Given the description of an element on the screen output the (x, y) to click on. 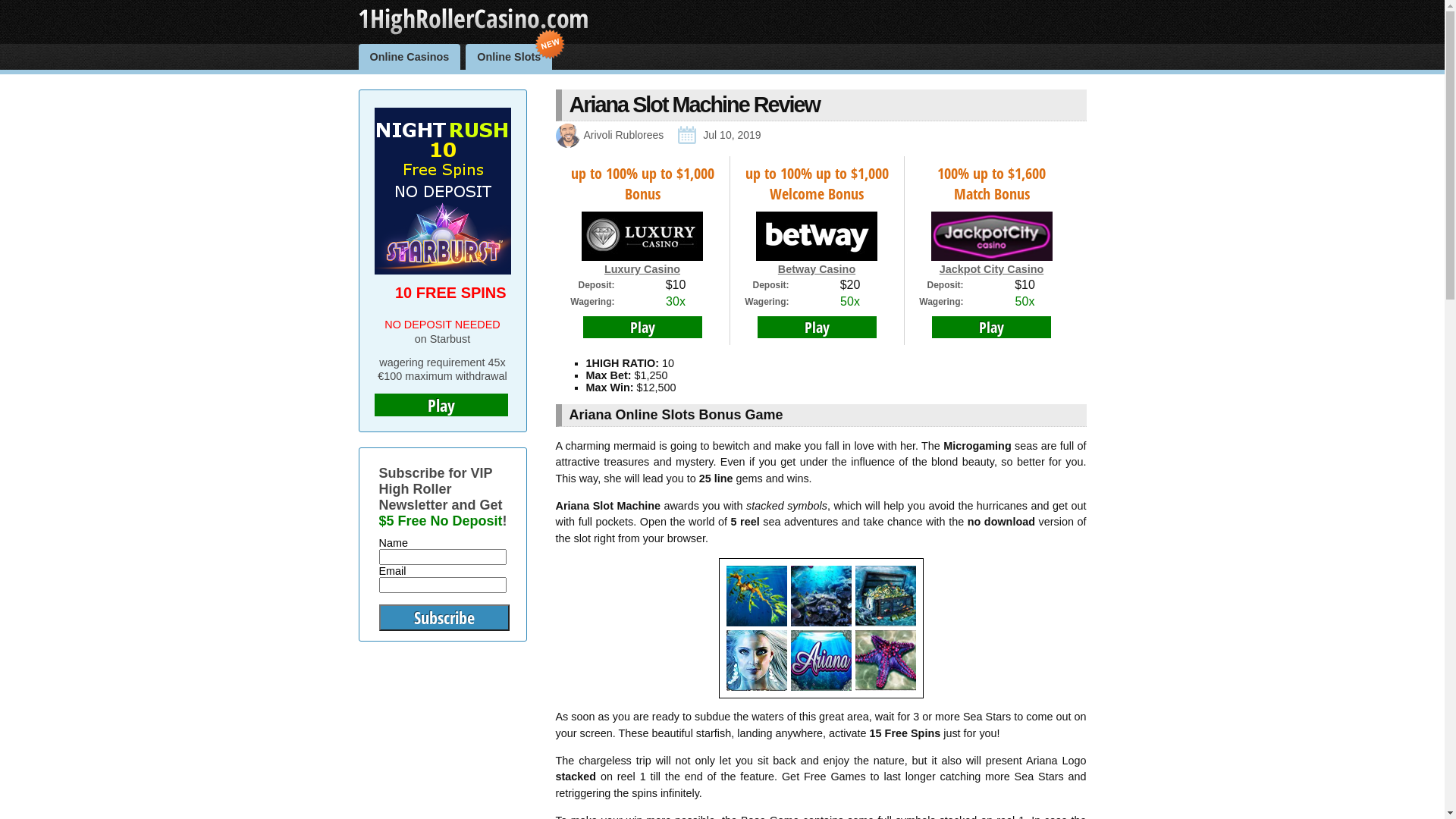
Online Casinos Element type: text (409, 56)
Betway Casino Element type: text (816, 269)
Play Element type: text (991, 327)
Arivoli Rublorees Element type: text (623, 134)
Play Element type: text (815, 327)
Luxury Casino Element type: text (642, 269)
Play Element type: text (641, 327)
Online Slots Element type: text (508, 56)
Subscribe Element type: text (444, 617)
Play Element type: text (441, 404)
Updated Element type: hover (686, 134)
10 FREE SPINS Element type: hover (442, 270)
10 FREE SPINS Element type: text (450, 292)
Jackpot City Casino Element type: text (991, 269)
